Given the description of an element on the screen output the (x, y) to click on. 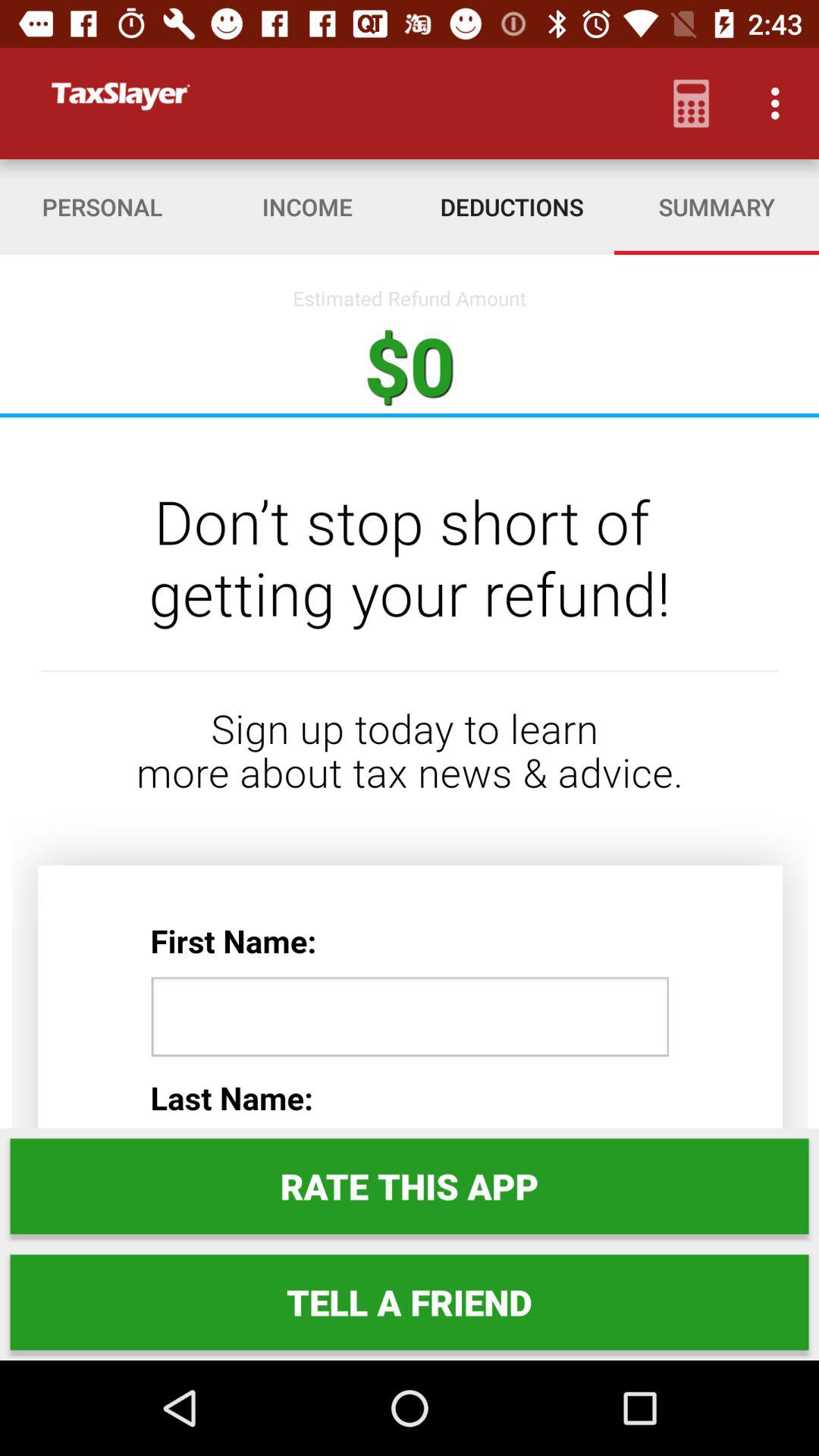
choose the item at the center (409, 772)
